Given the description of an element on the screen output the (x, y) to click on. 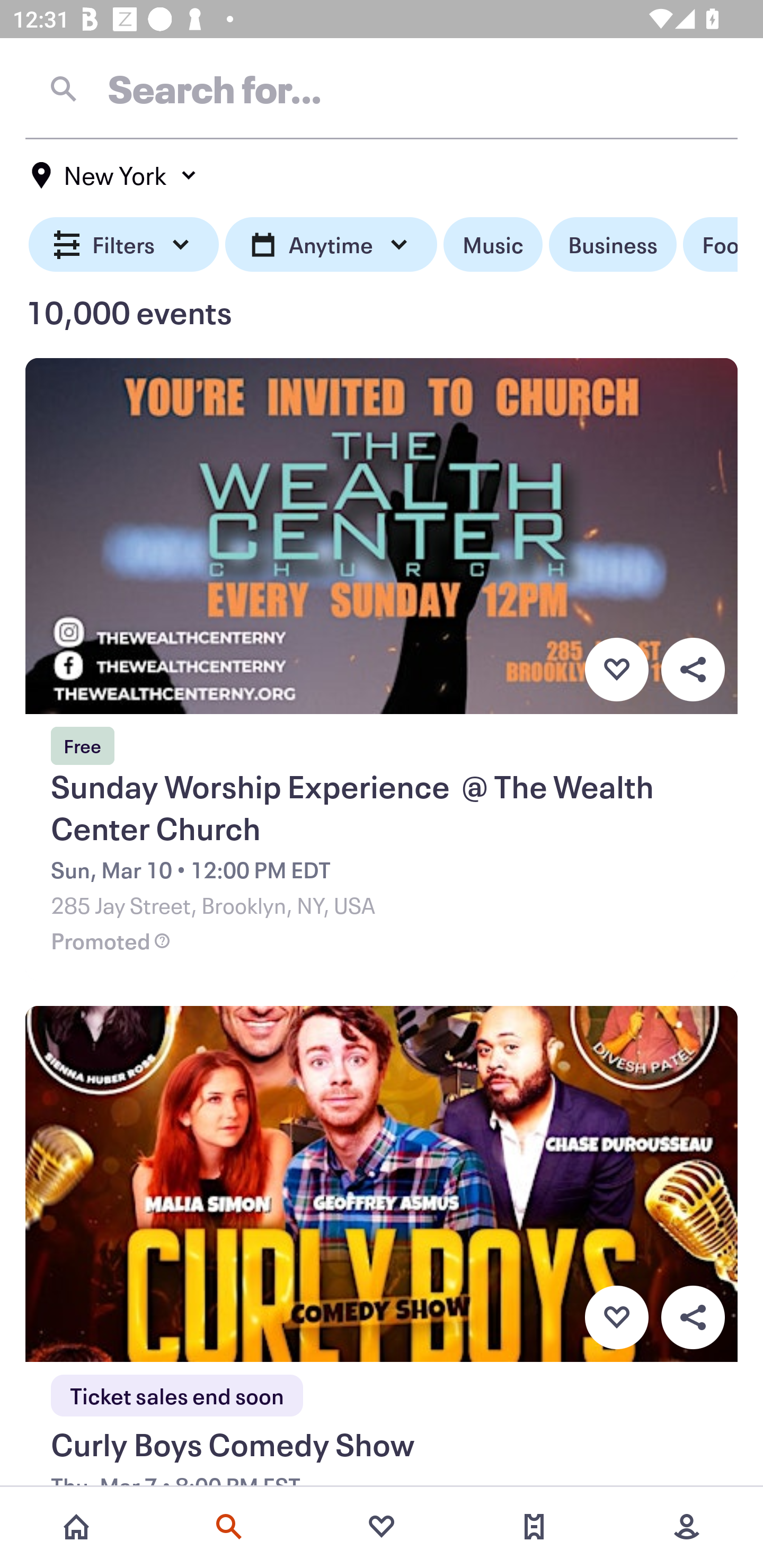
Search for… (381, 88)
New York (114, 175)
Filters (123, 244)
Anytime (331, 244)
Music (492, 244)
Business (612, 244)
Favorite button (616, 669)
Overflow menu button (692, 669)
Favorite button (616, 1317)
Overflow menu button (692, 1317)
Home (76, 1526)
Search events (228, 1526)
Favorites (381, 1526)
Tickets (533, 1526)
More (686, 1526)
